Given the description of an element on the screen output the (x, y) to click on. 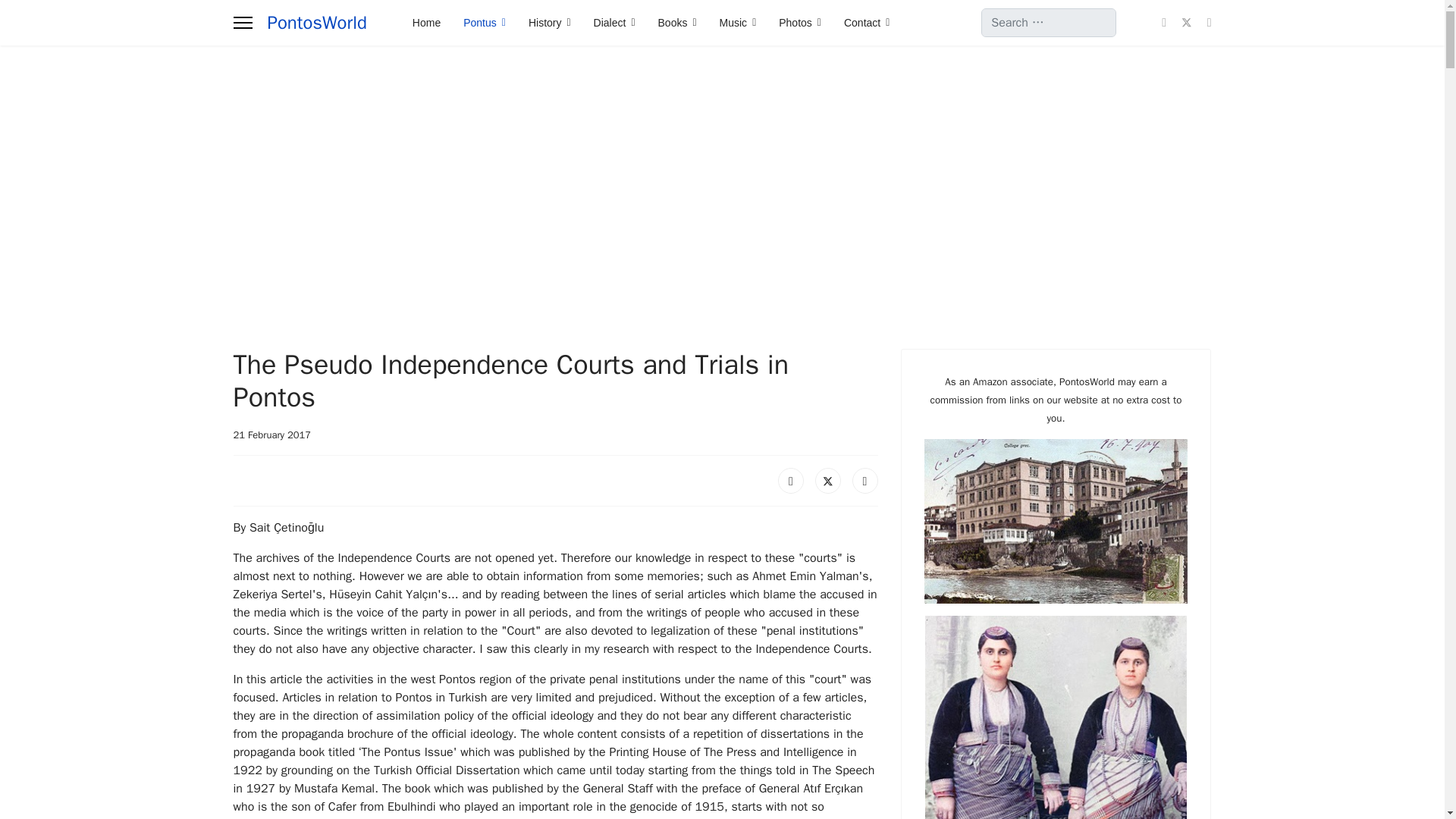
Created: 21 February 2017 (271, 435)
LinkedIn (864, 480)
Dialect (614, 22)
Home (426, 22)
Facebook (790, 480)
Books (676, 22)
Pontus (483, 22)
History (549, 22)
PontosWorld (316, 22)
